Given the description of an element on the screen output the (x, y) to click on. 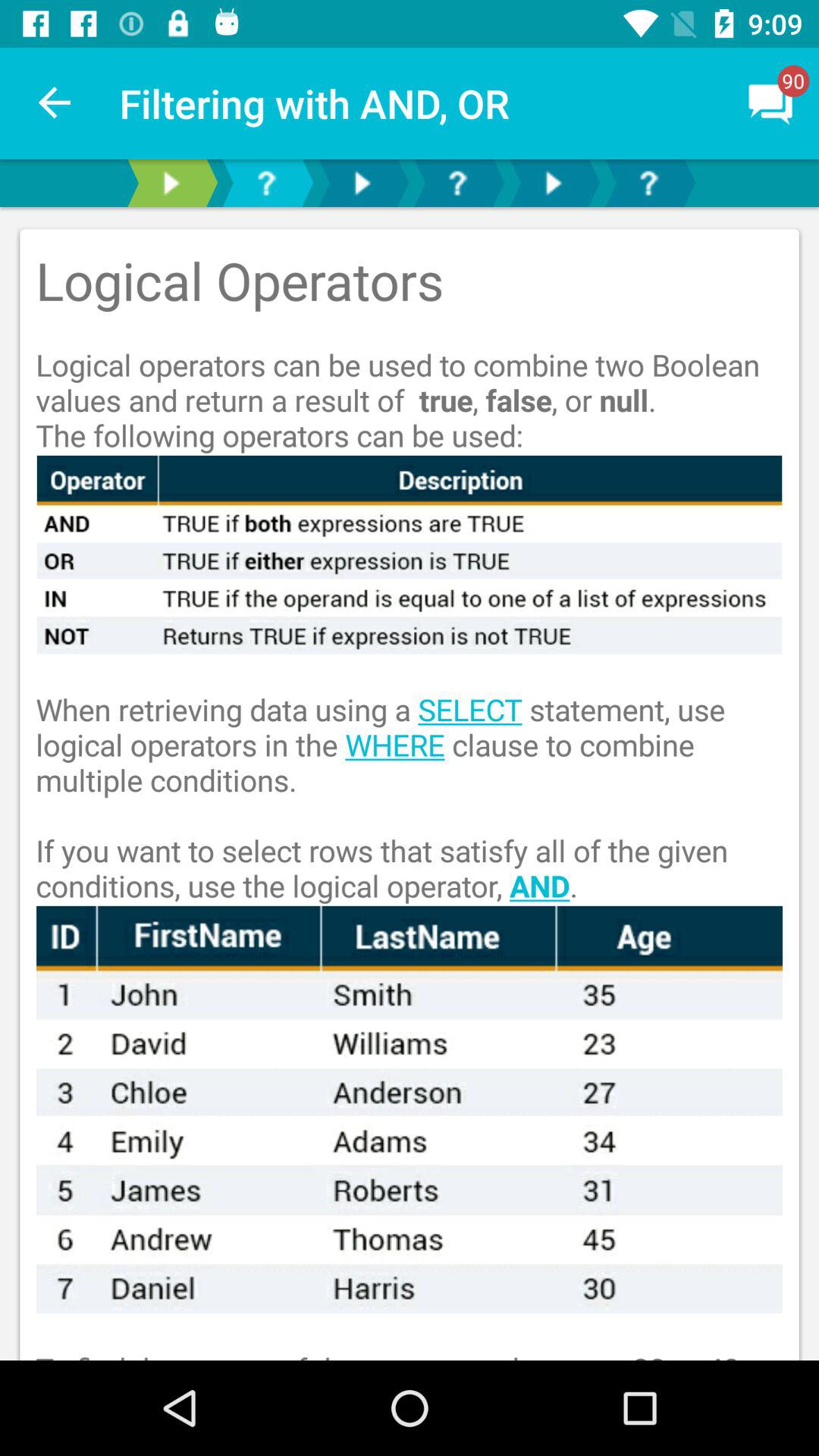
switch help option (265, 183)
